Given the description of an element on the screen output the (x, y) to click on. 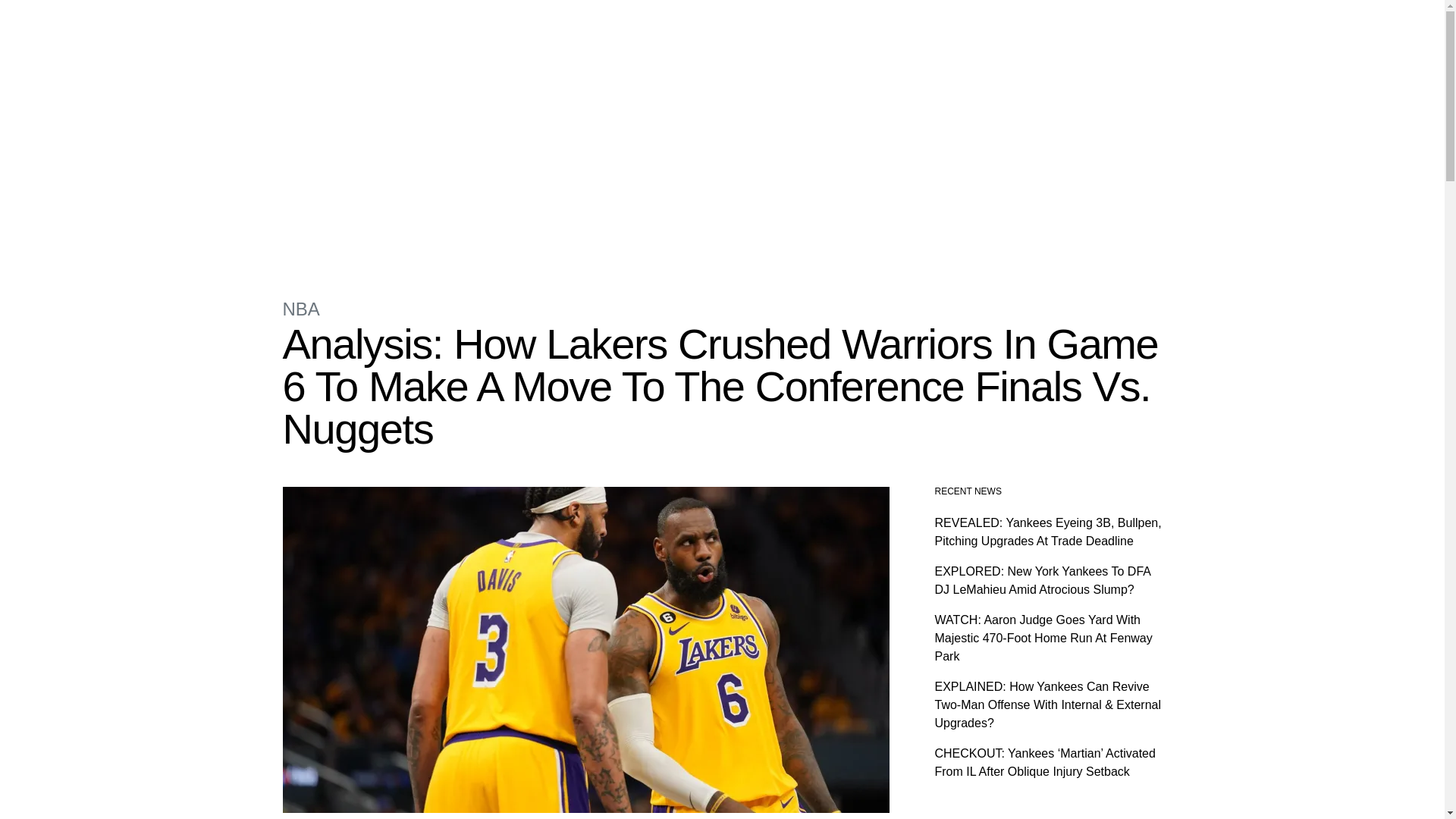
Yankees (559, 22)
Formula 1 (432, 22)
Football (613, 22)
NBA (300, 308)
